Given the description of an element on the screen output the (x, y) to click on. 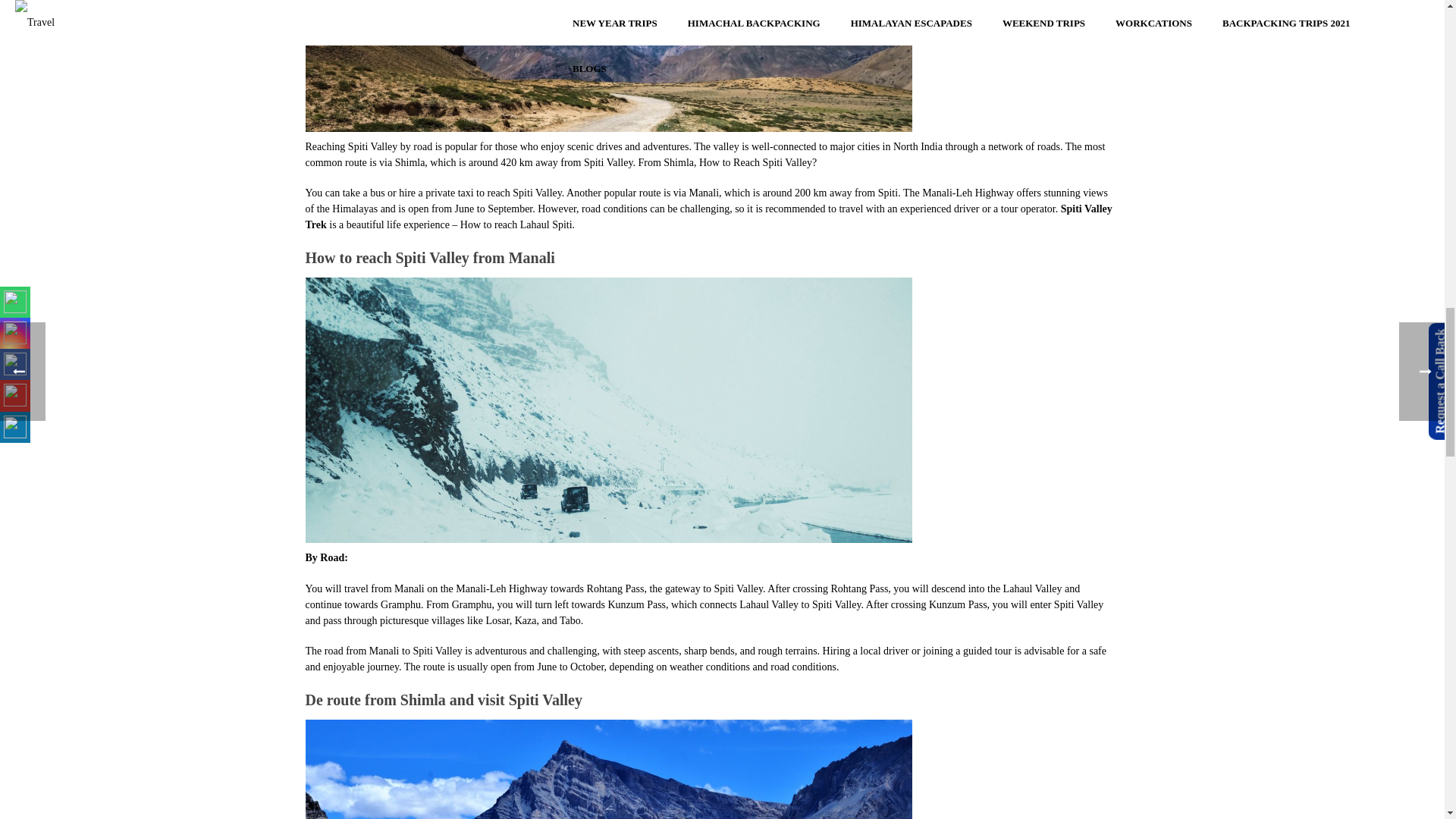
how-to-reach-spiti-valley-from-shimla (607, 769)
how-to-reach-spiti-valley (607, 65)
